Given the description of an element on the screen output the (x, y) to click on. 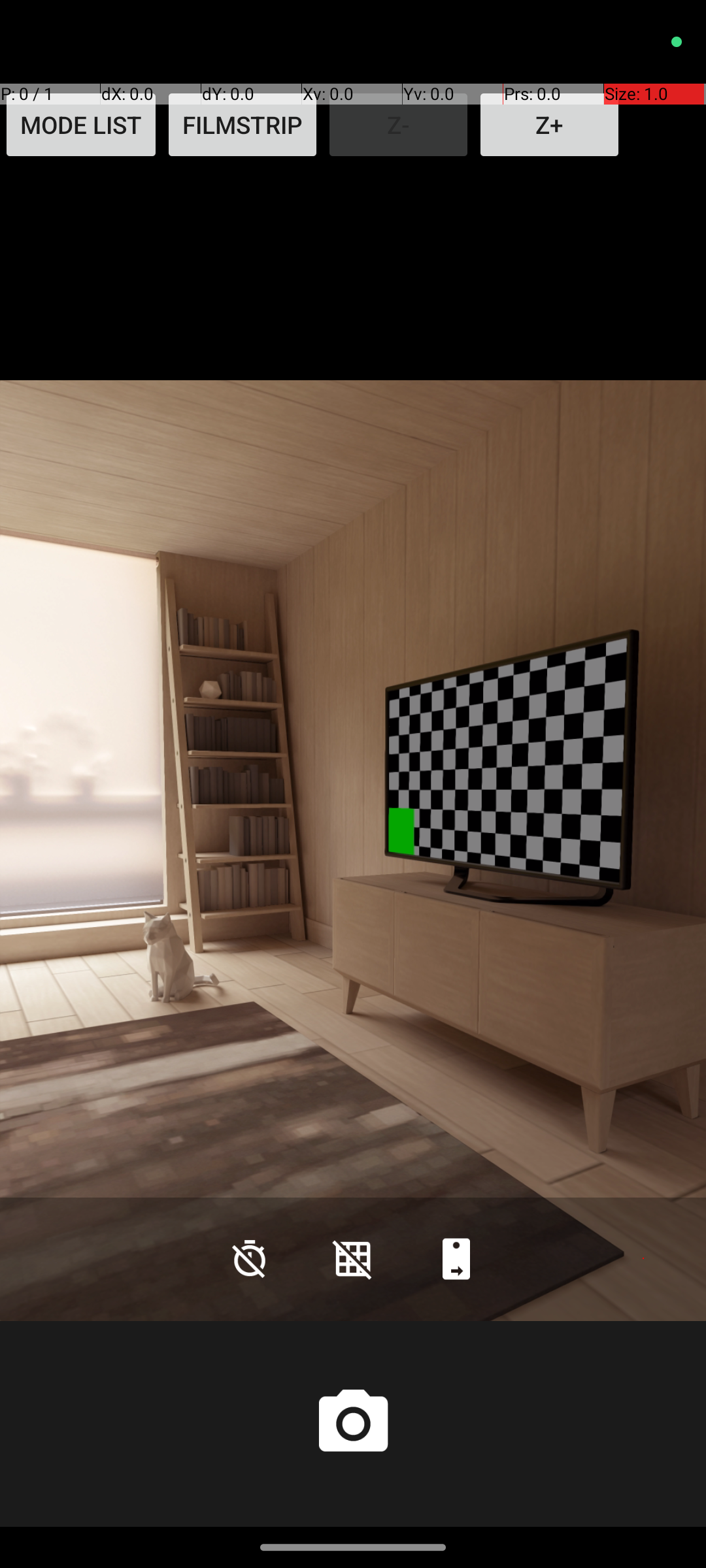
Shutter Element type: android.widget.ImageView (353, 1423)
MODE LIST Element type: android.widget.Button (81, 124)
FILMSTRIP Element type: android.widget.Button (242, 124)
Z- Element type: android.widget.Button (397, 124)
Z+ Element type: android.widget.Button (548, 124)
Countdown timer is off Element type: android.widget.ImageButton (249, 1258)
Grid lines off Element type: android.widget.ImageButton (352, 1258)
Back camera Element type: android.widget.ImageButton (456, 1258)
